Given the description of an element on the screen output the (x, y) to click on. 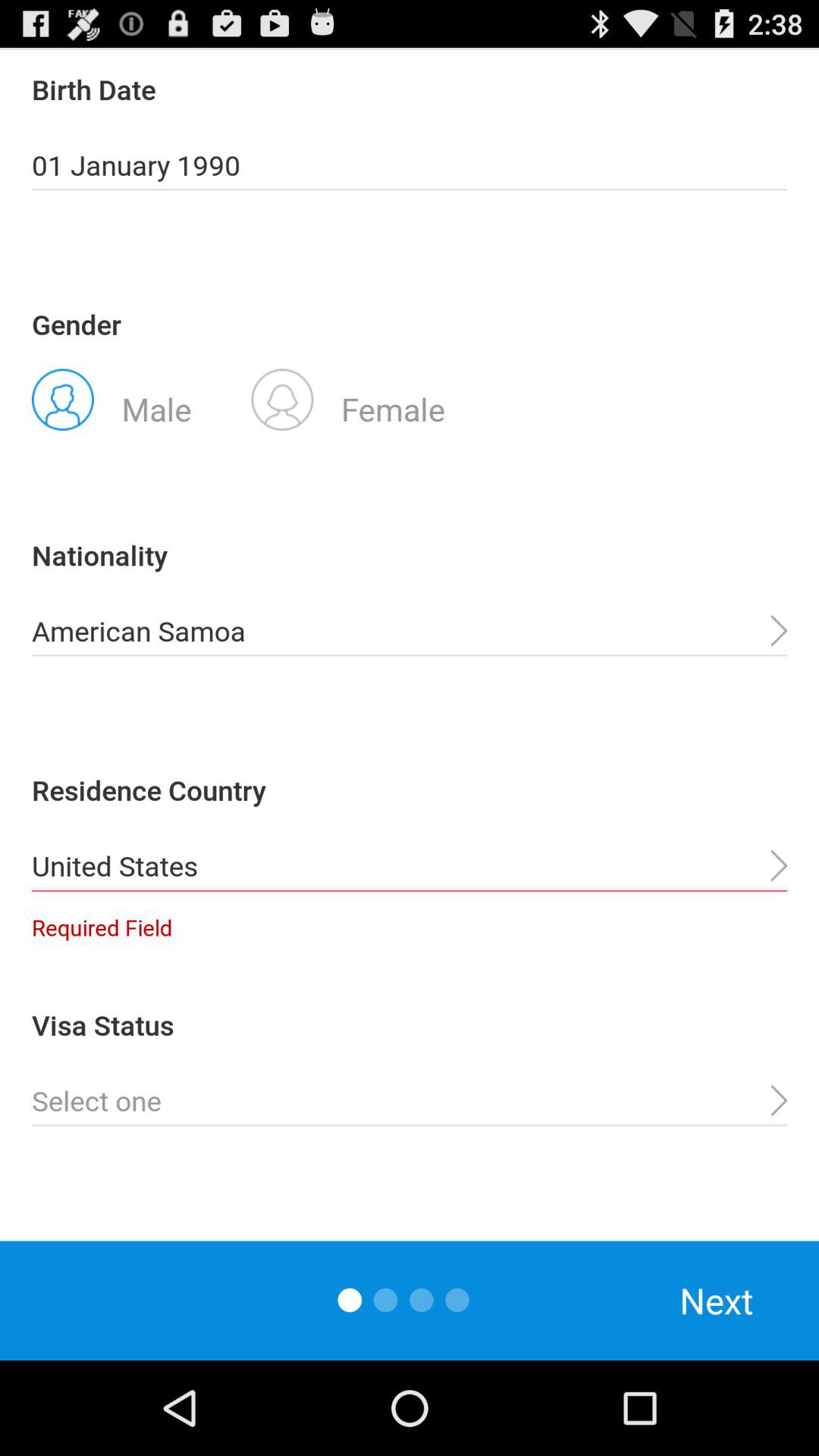
swipe until american samoa (409, 631)
